Given the description of an element on the screen output the (x, y) to click on. 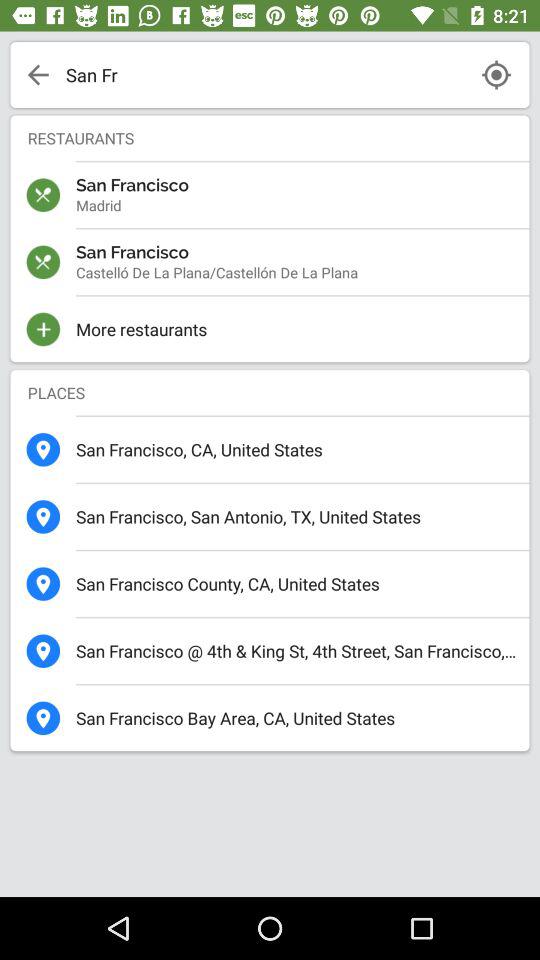
select the icon which is above the plus icon (43, 262)
select the arrow present on the top left corner (37, 74)
select the plus icon (43, 328)
select the last location icon (43, 718)
select the first location icon (43, 449)
select the second location icon (43, 516)
